Given the description of an element on the screen output the (x, y) to click on. 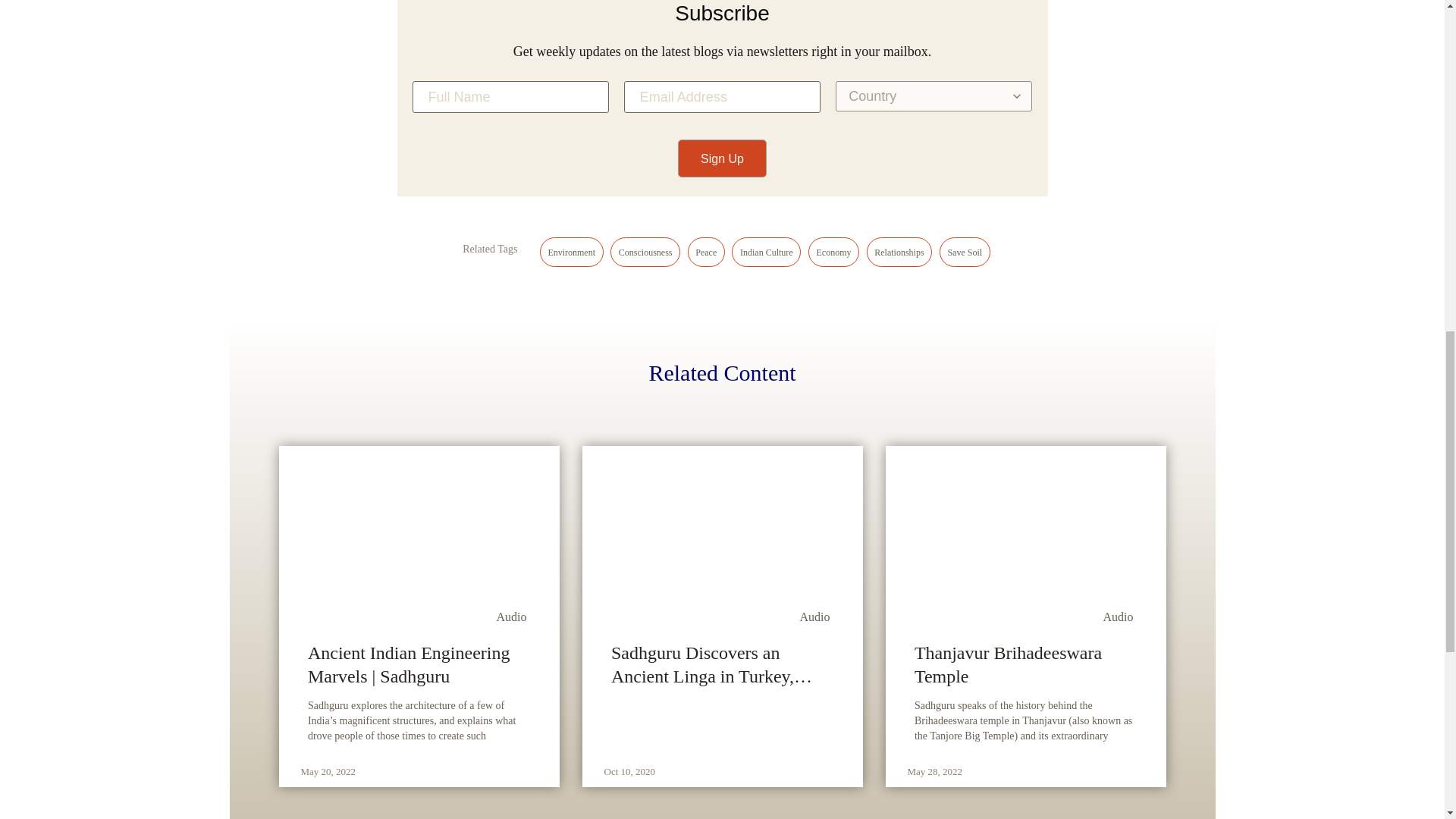
Thanjavur Brihadeeswara Temple (1025, 664)
